Given the description of an element on the screen output the (x, y) to click on. 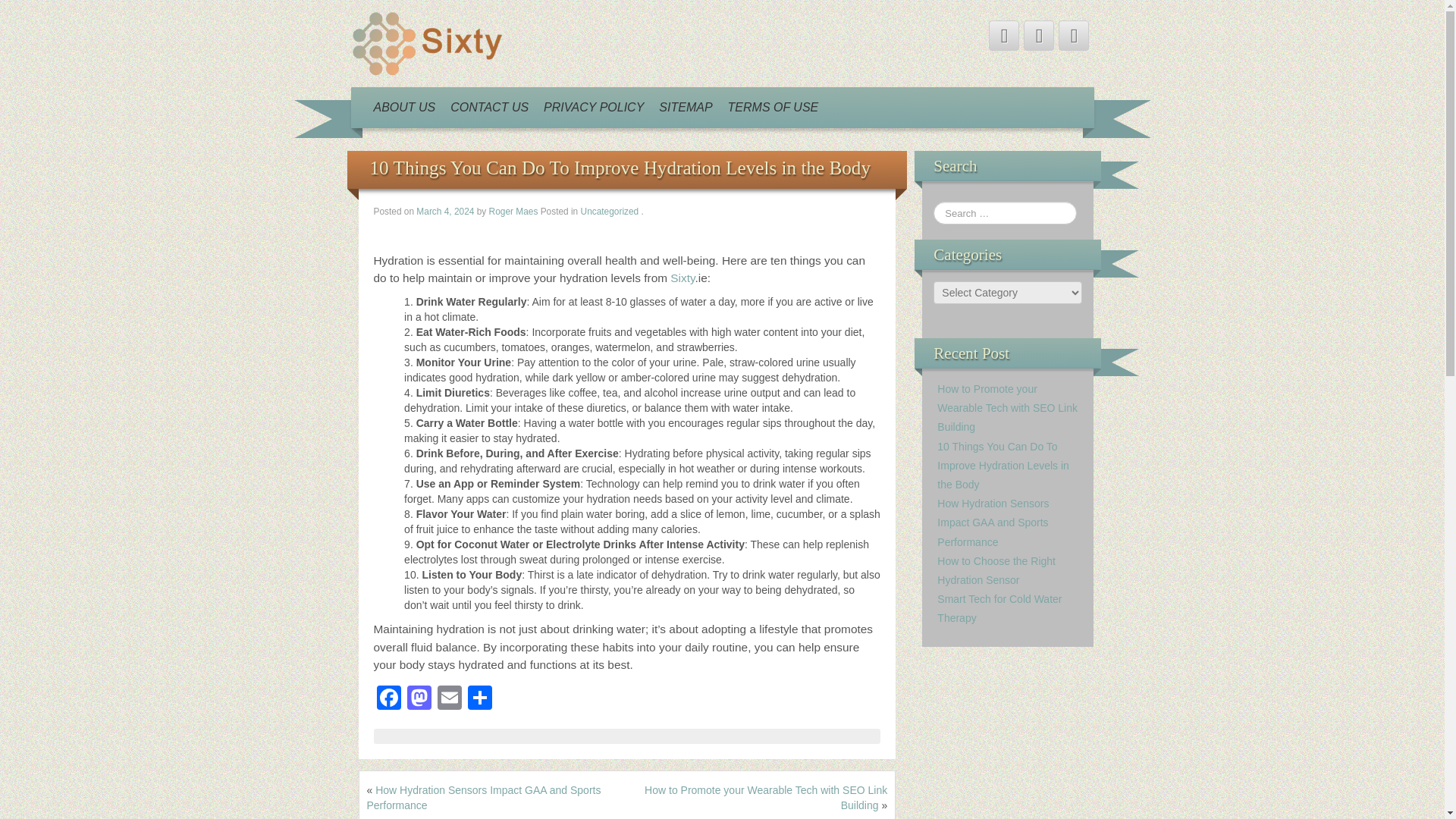
Sixty (426, 42)
10 Things You Can Do To Improve Hydration Levels in the Body (1002, 465)
How to Promote your Wearable Tech with SEO Link Building (765, 797)
Mastodon (418, 699)
Facebook (387, 699)
Smart Tech for Cold Water Therapy (999, 608)
View all posts by Roger Maes (513, 211)
March 4, 2024 (446, 211)
Uncategorized (609, 211)
Roger Maes (513, 211)
How to Choose the Right Hydration Sensor (996, 570)
SITEMAP (684, 106)
Email (448, 699)
Sixty Twitter (1003, 35)
How to Promote your Wearable Tech with SEO Link Building (1007, 408)
